Given the description of an element on the screen output the (x, y) to click on. 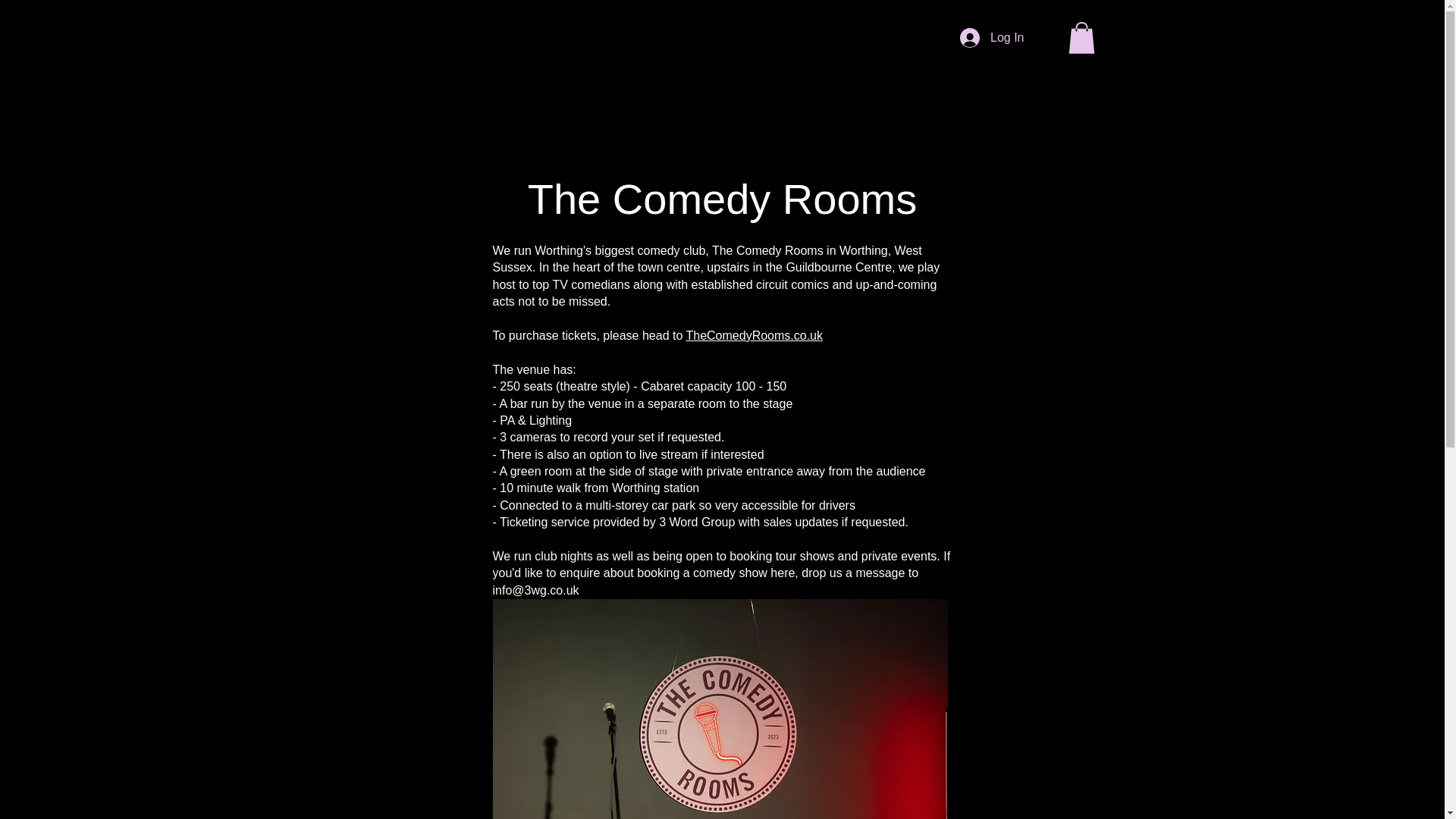
Log In (991, 37)
TheComedyRooms.co.uk (753, 335)
